Given the description of an element on the screen output the (x, y) to click on. 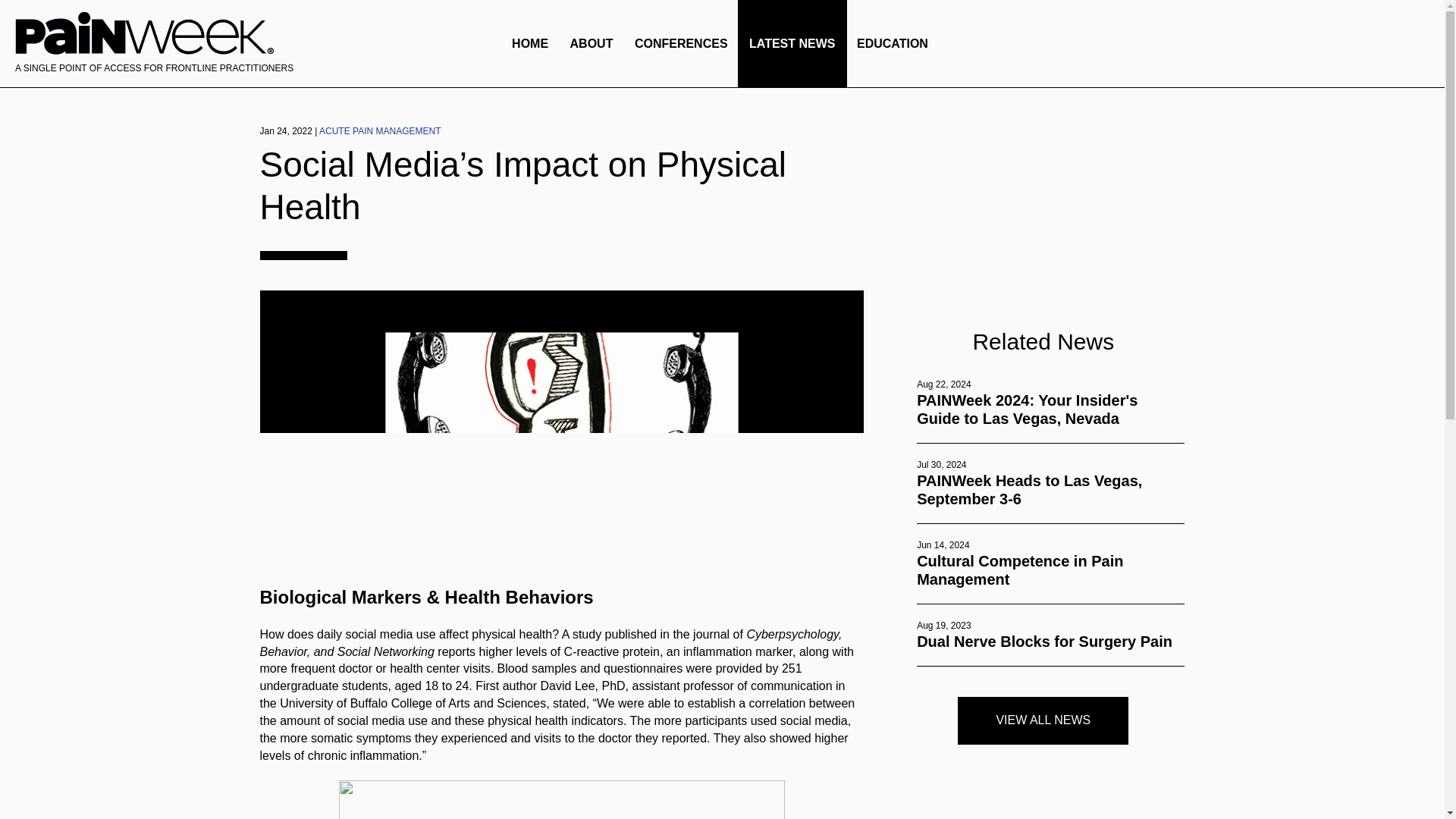
LATEST NEWS (791, 43)
EDUCATION (892, 43)
Home (146, 44)
PAINWeek 2024: Your Insider's Guide to Las Vegas, Nevada  (1051, 409)
ACUTE PAIN MANAGEMENT (379, 131)
VIEW ALL NEWS (1043, 720)
PAINWeek Heads to Las Vegas, September 3-6 (1051, 489)
PAINWeek (146, 32)
CONFERENCES (681, 43)
Dual Nerve Blocks for Surgery Pain (1051, 641)
